Given the description of an element on the screen output the (x, y) to click on. 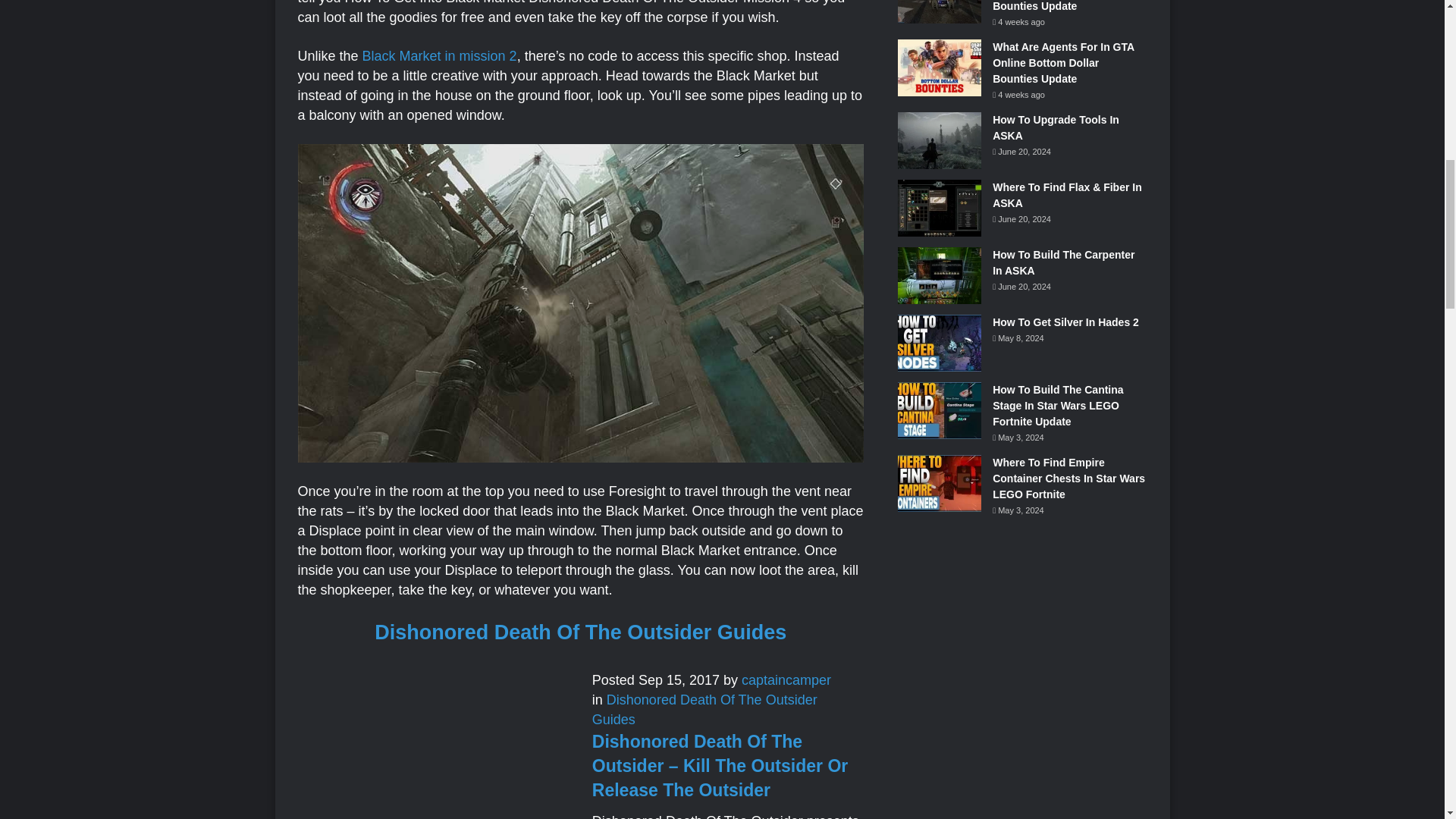
Dishonored Death Of The Outsider Guides (580, 631)
Black Market in mission 2 (439, 55)
